Given the description of an element on the screen output the (x, y) to click on. 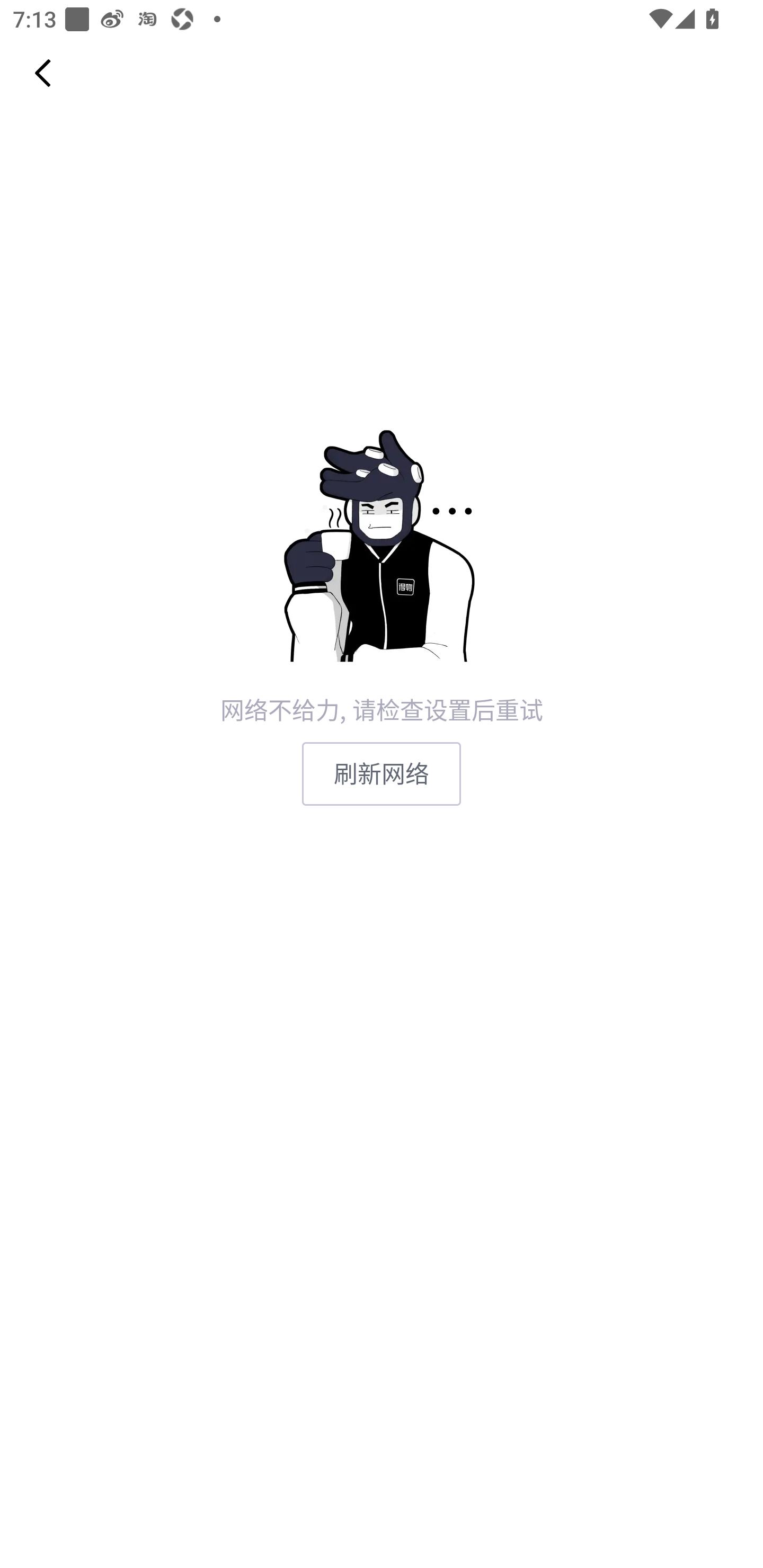
刷新网络 (381, 773)
